Given the description of an element on the screen output the (x, y) to click on. 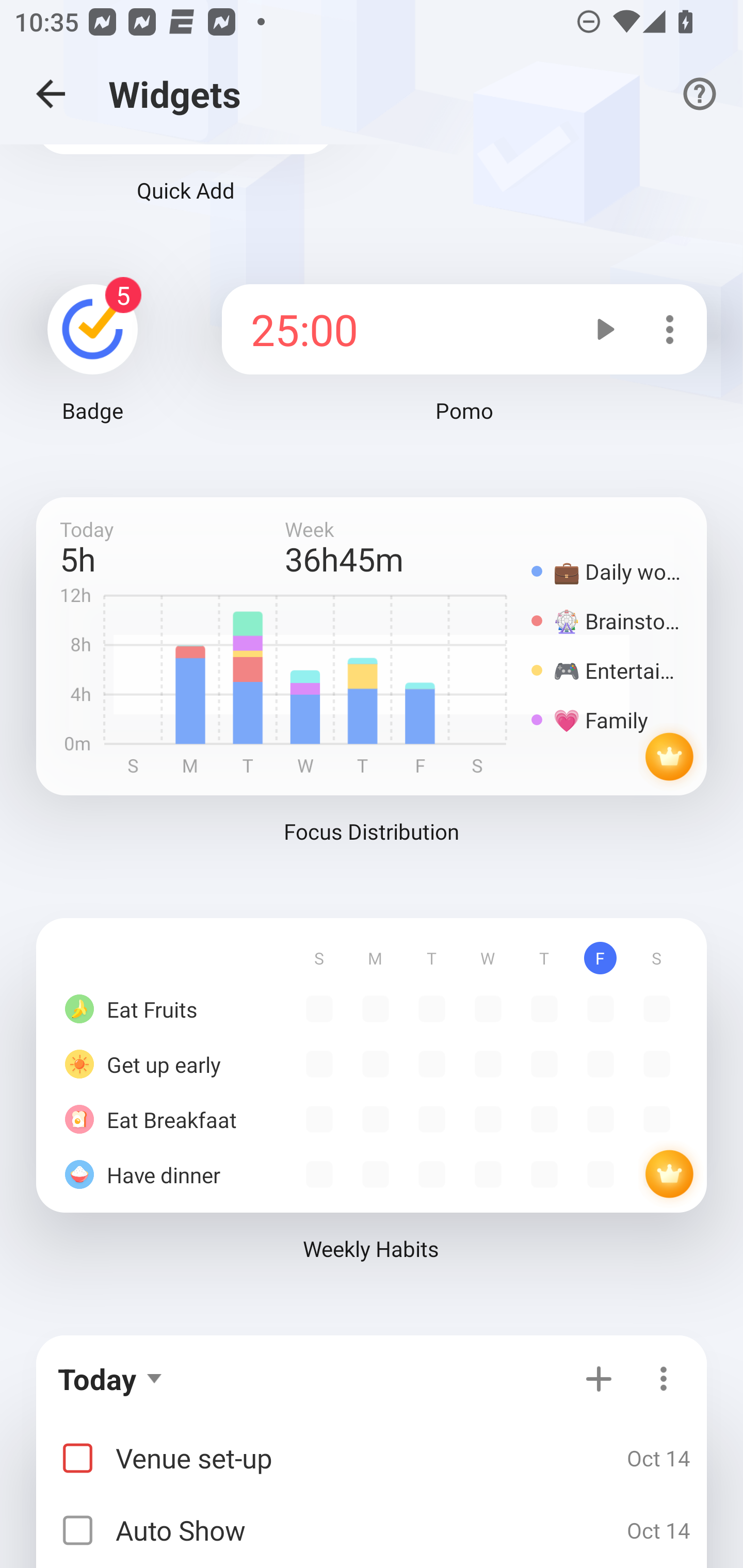
Quick Add (185, 201)
5 Badge (92, 368)
25:00 0.0 Pomo (464, 372)
5 (92, 325)
25:00 (395, 328)
Have dinner (371, 1169)
Today (104, 1378)
